Given the description of an element on the screen output the (x, y) to click on. 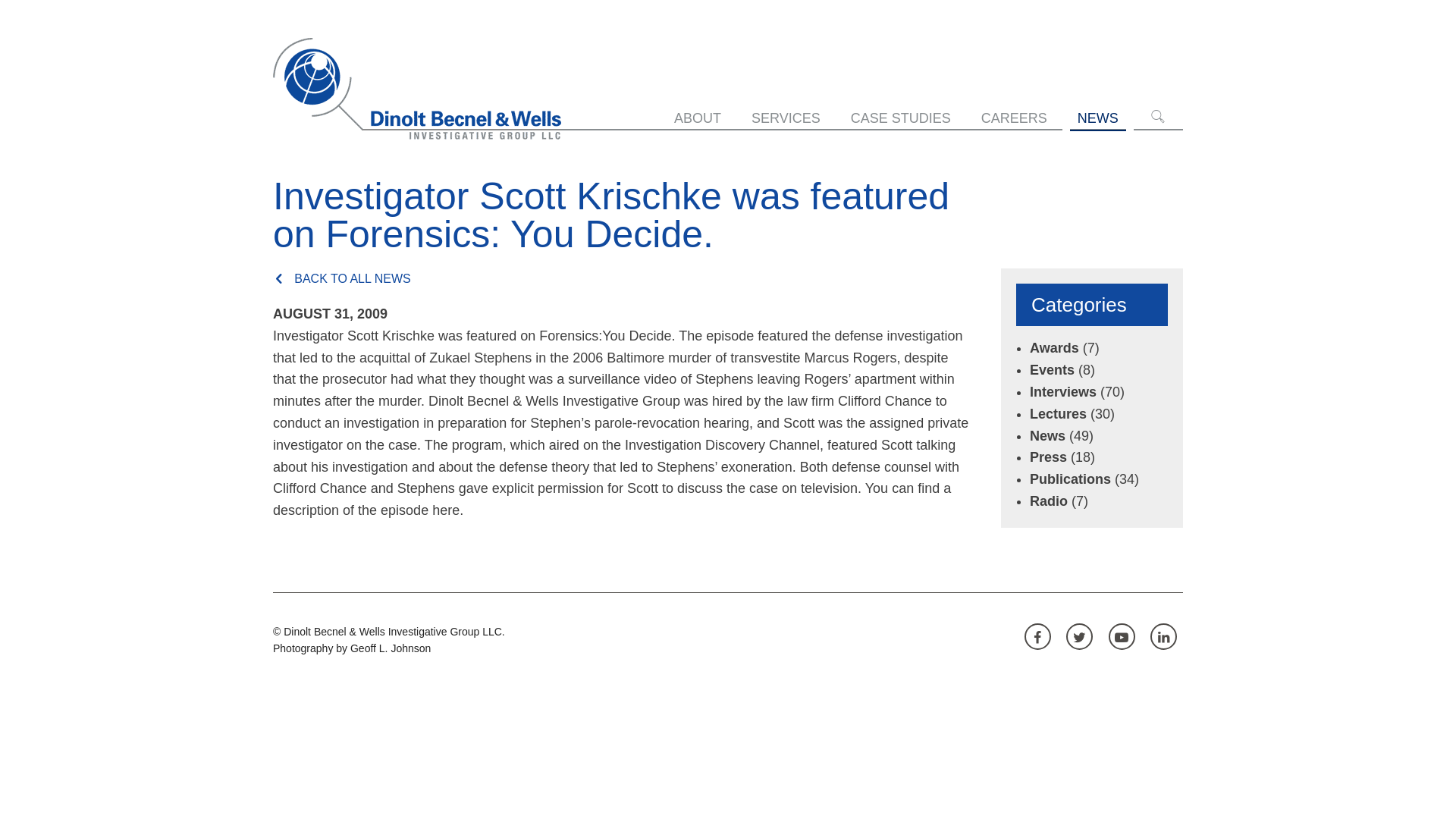
News (1047, 435)
Interviews (1062, 391)
Publications (1069, 478)
BACK TO ALL NEWS (617, 278)
Radio (1048, 500)
Lectures (1057, 413)
ABOUT (697, 118)
Events (1051, 369)
Awards (1053, 347)
CASE STUDIES (900, 118)
